Given the description of an element on the screen output the (x, y) to click on. 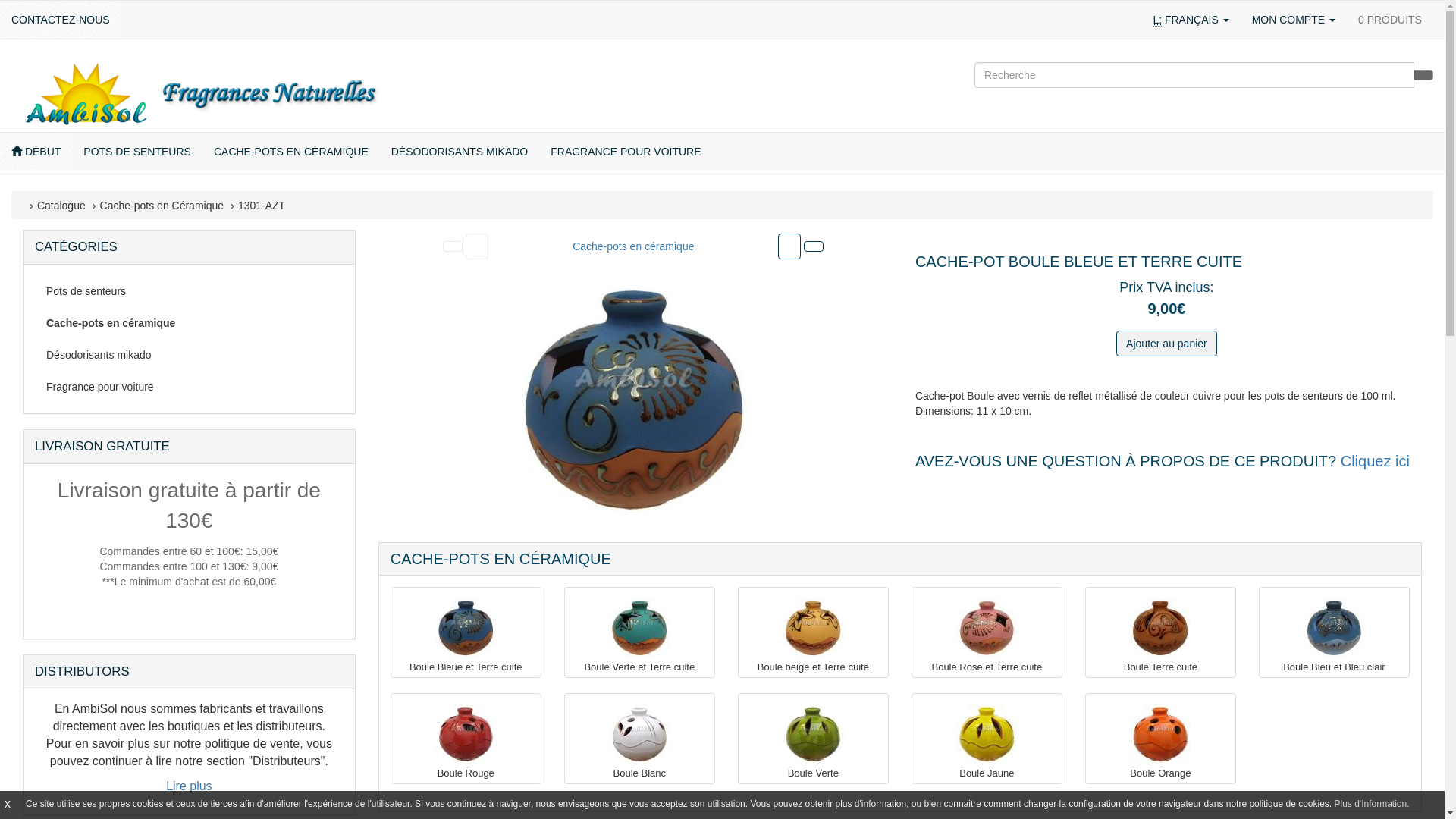
Boule Rouge Element type: text (465, 773)
Cache-pot Boule Bleue et Terre cuite Element type: hover (632, 399)
Boule Bleue et Terre cuite Element type: text (465, 667)
Boule Rose et Terre cuite Element type: text (986, 667)
Ajouter au panier Element type: text (1166, 343)
Boule Rouge Element type: hover (465, 733)
Boule Verte et Terre cuite Element type: hover (638, 627)
Boule Jaune Element type: text (986, 773)
Cliquez ici Element type: text (1374, 460)
AmbiSol - Fragrances Naturelles Element type: hover (200, 92)
Boule beige et Terre cuite Element type: hover (812, 627)
1301-AZT Element type: text (261, 205)
x Element type: text (7, 803)
Boule Orange Element type: hover (1159, 733)
Dernier Element type: hover (813, 246)
Boule Terre cuite Element type: hover (1159, 627)
Boule beige et Terre cuite Element type: text (813, 667)
Boule Blanc Element type: text (639, 773)
Prochain Element type: hover (789, 246)
Boule Verte Element type: text (813, 773)
FRAGRANCE POUR VOITURE Element type: text (625, 151)
Boule Bleue et Terre cuite Element type: hover (465, 627)
Boule Verte Element type: hover (812, 733)
Boule Blanc Element type: hover (638, 733)
Pots de senteurs Element type: text (188, 291)
Boule Jaune Element type: hover (986, 733)
Boule Bleu et Bleu clair Element type: text (1334, 667)
POTS DE SENTEURS Element type: text (137, 151)
Fragrance pour voiture Element type: text (188, 386)
Lire plus Element type: text (188, 785)
Boule Verte et Terre cuite Element type: text (639, 667)
MON COMPTE Element type: text (1293, 19)
Boule Rose et Terre cuite Element type: hover (986, 627)
Boule Orange Element type: text (1160, 773)
  Element type: text (476, 246)
CONTACTEZ-NOUS Element type: text (60, 19)
Boule Bleu et Bleu clair Element type: hover (1333, 627)
Catalogue Element type: text (61, 205)
  Element type: text (789, 246)
Boule Terre cuite Element type: text (1160, 667)
Plus d'Information. Element type: text (1371, 803)
